Given the description of an element on the screen output the (x, y) to click on. 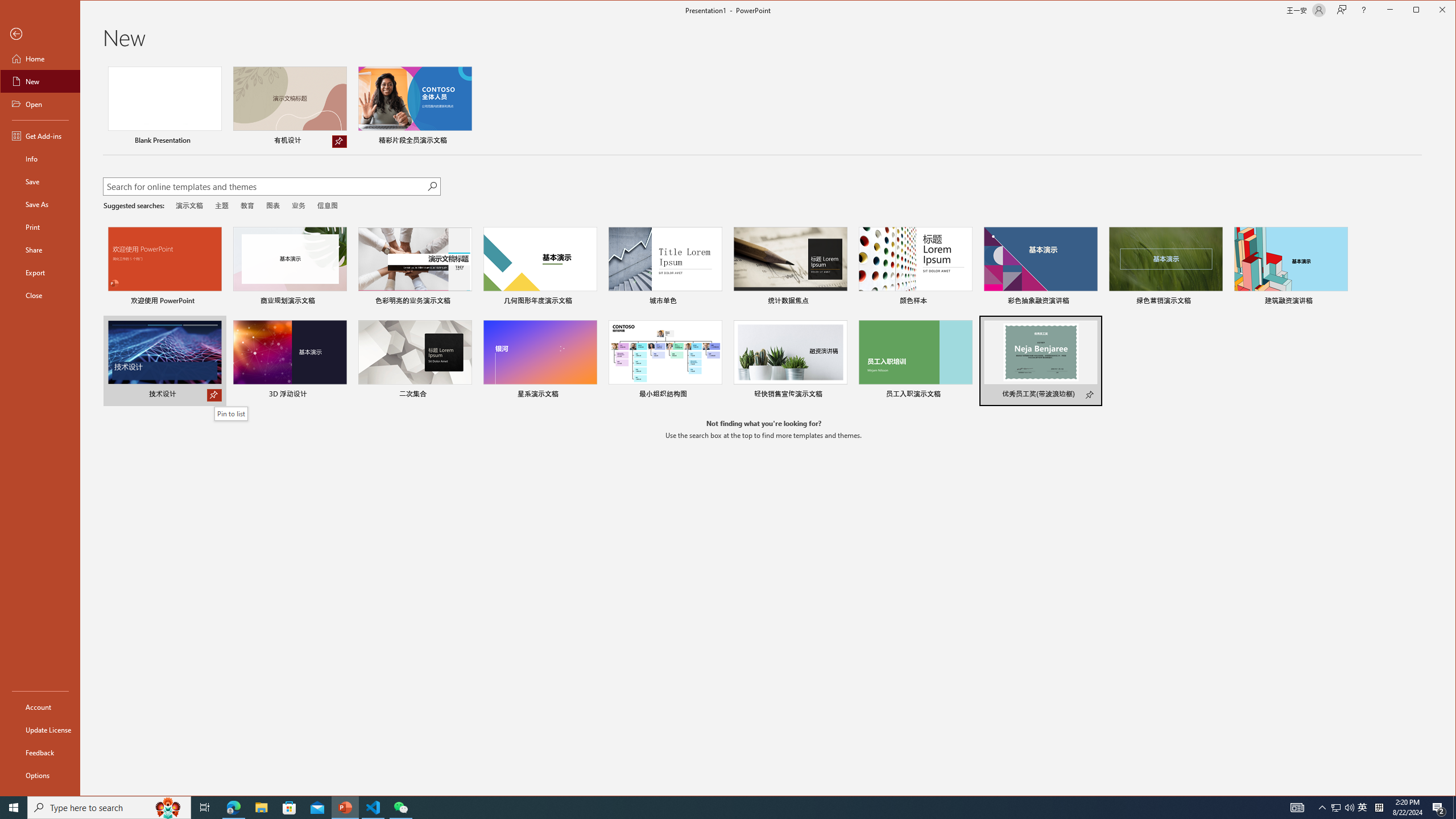
Save As (40, 203)
Export (40, 272)
Back (40, 34)
